Given the description of an element on the screen output the (x, y) to click on. 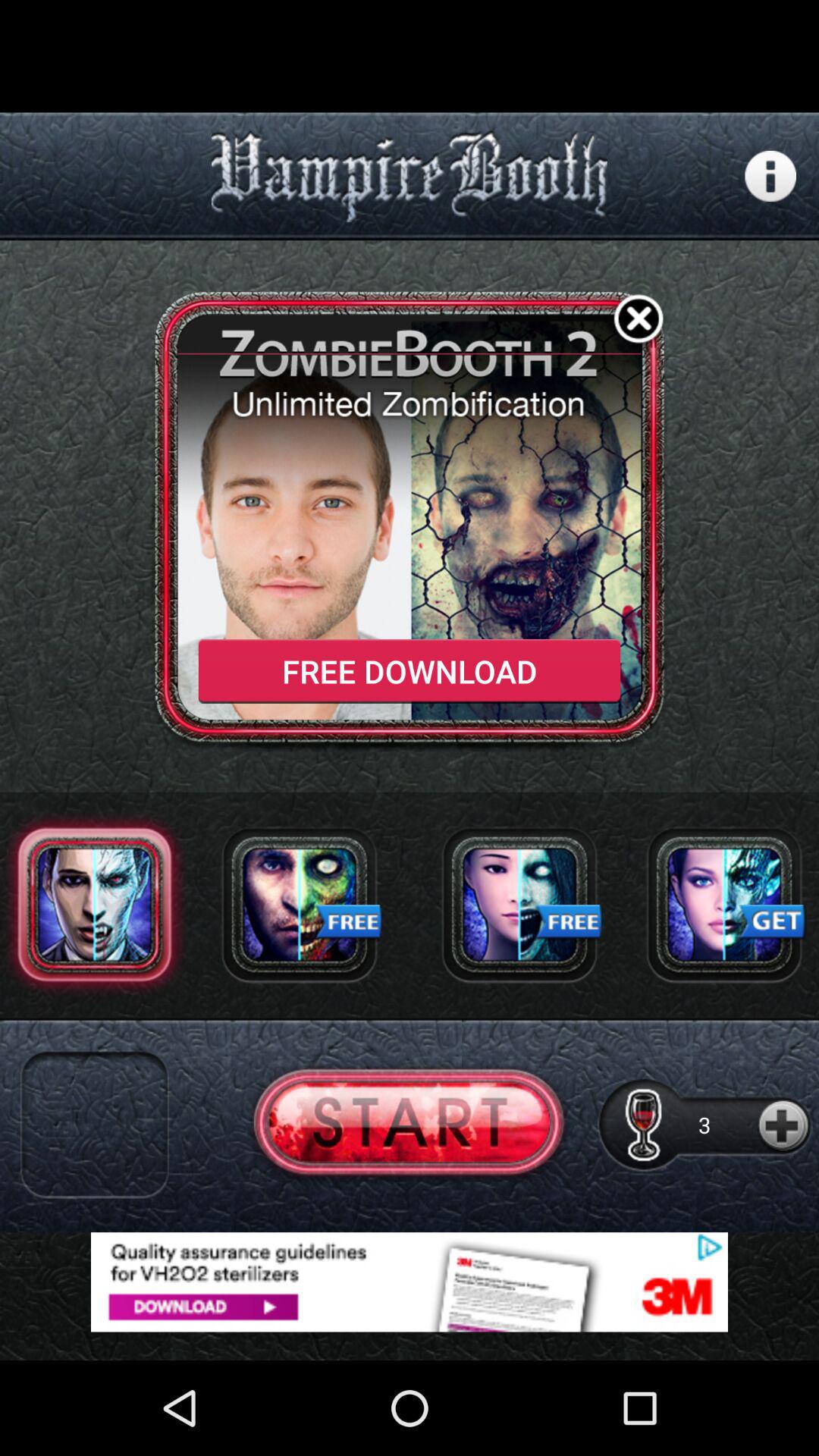
download effect (299, 904)
